Given the description of an element on the screen output the (x, y) to click on. 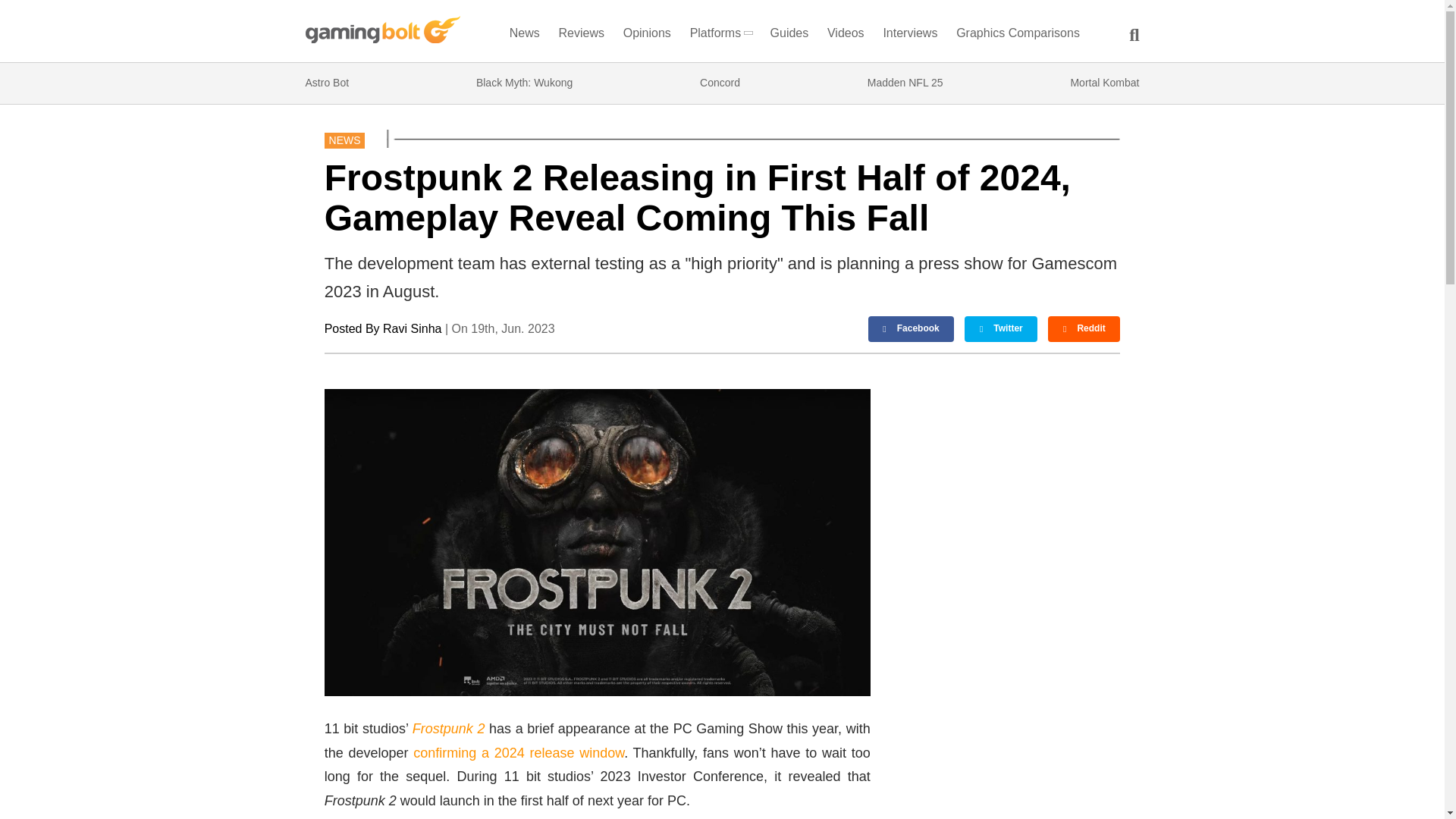
Guides (789, 36)
Videos (845, 36)
Ravi Sinha (411, 328)
Facebook (911, 329)
NEWS (345, 140)
Frostpunk 2 (448, 728)
Reddit (1083, 329)
Interviews (909, 36)
Black Myth: Wukong (524, 82)
Mortal Kombat (1104, 82)
